Given the description of an element on the screen output the (x, y) to click on. 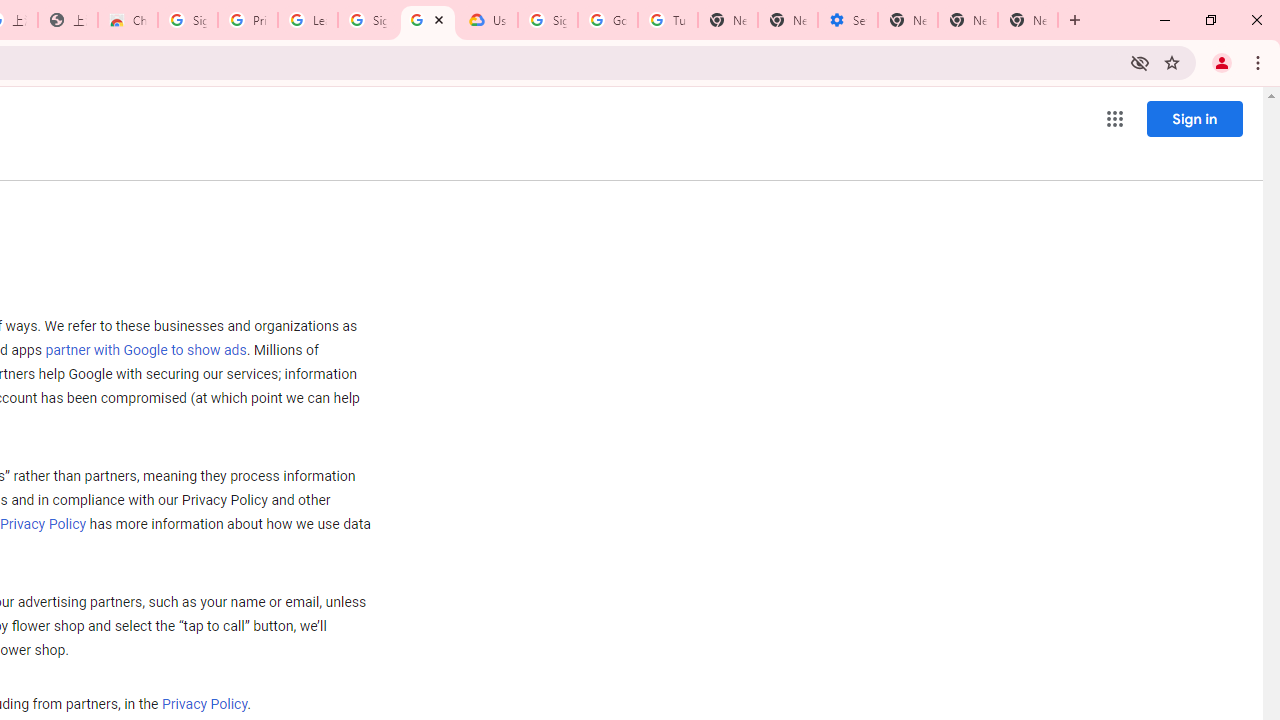
Sign in - Google Accounts (548, 20)
Privacy Policy (204, 705)
New Tab (908, 20)
Turn cookies on or off - Computer - Google Account Help (667, 20)
Chrome Web Store - Color themes by Chrome (127, 20)
Sign in - Google Accounts (367, 20)
partner with Google to show ads (145, 351)
